Given the description of an element on the screen output the (x, y) to click on. 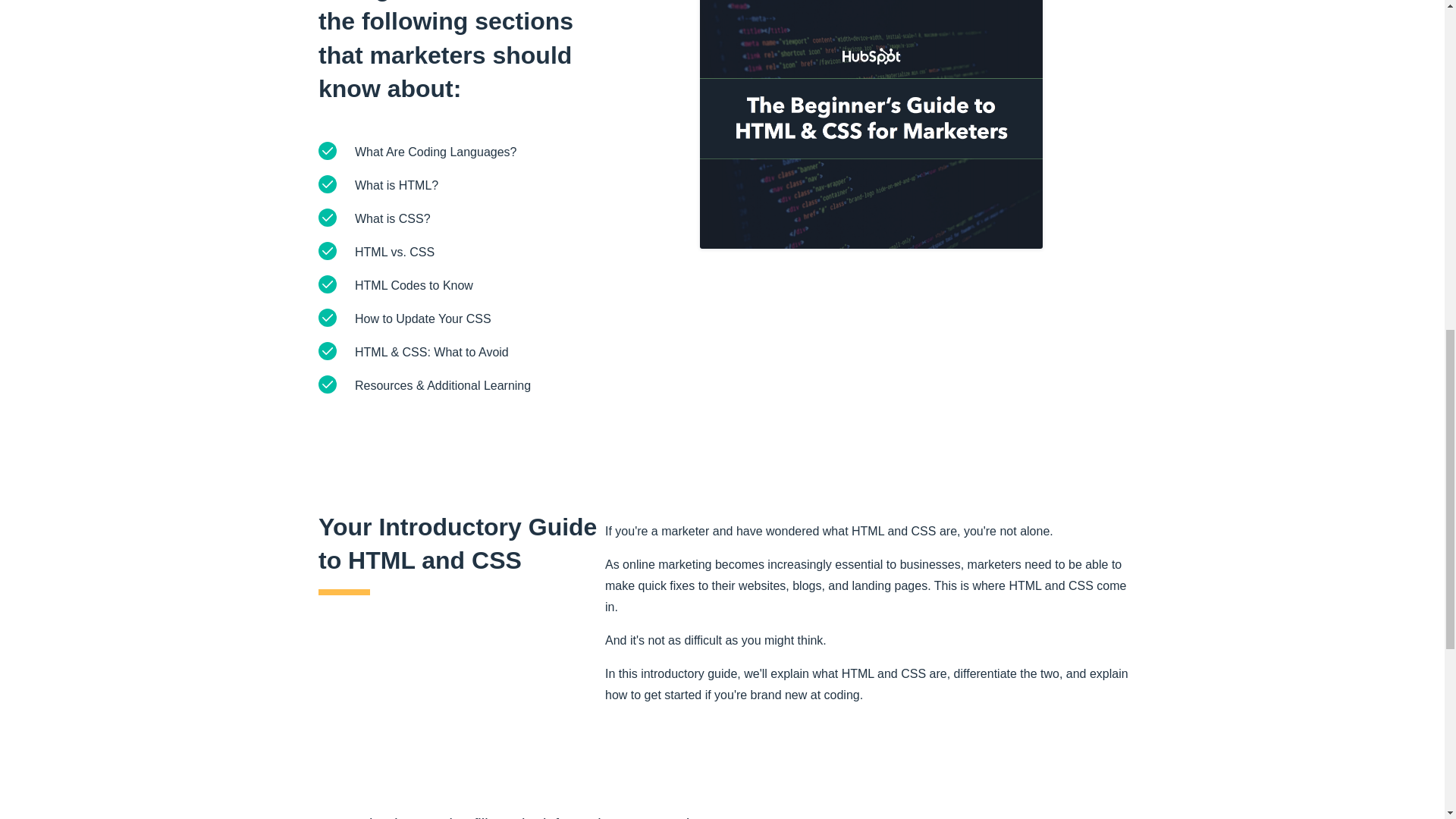
Why do I need to fill out the information requested? (727, 805)
